Given the description of an element on the screen output the (x, y) to click on. 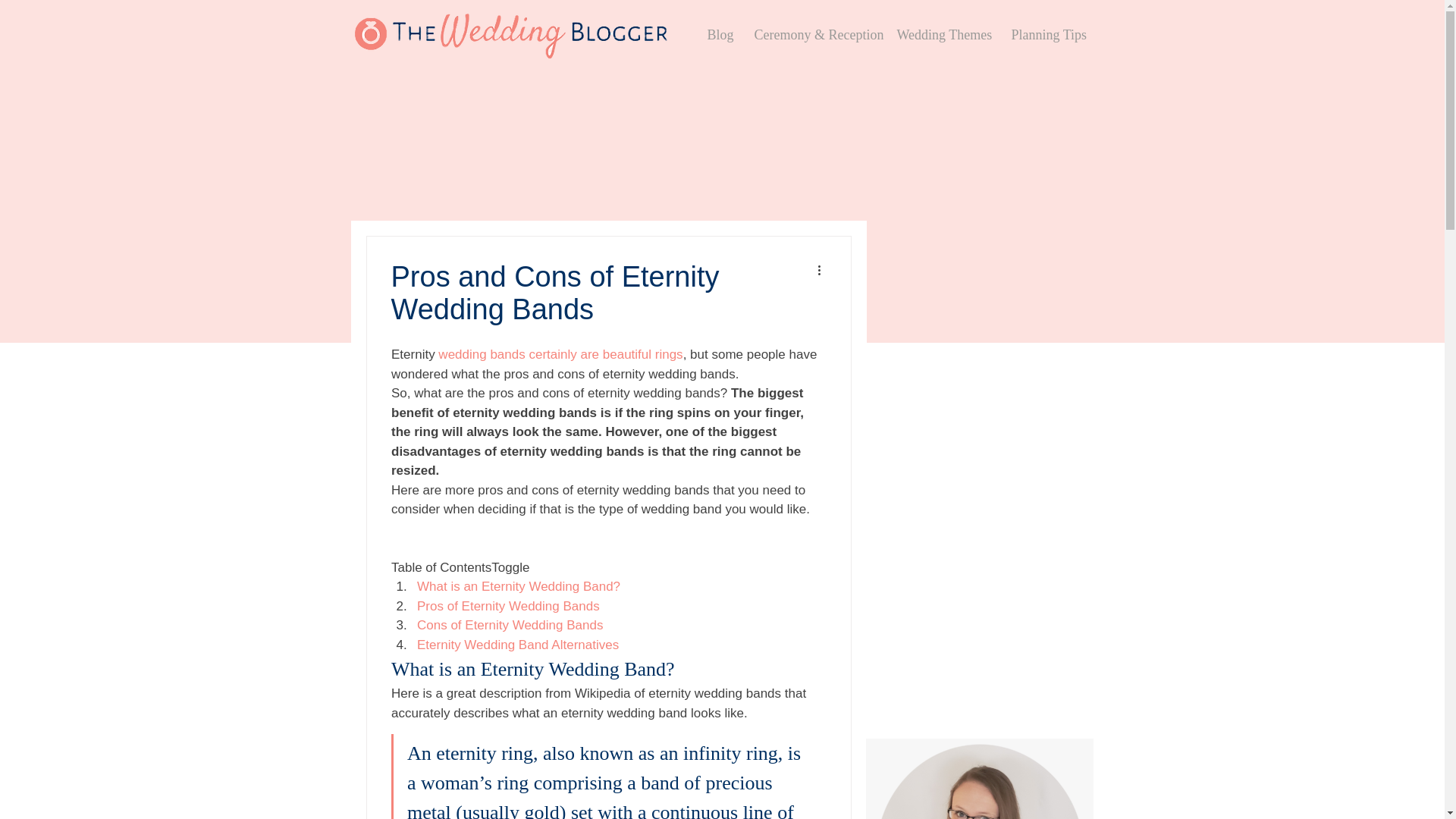
What is an Eternity Wedding Band? (518, 586)
Pros of Eternity Wedding Bands (507, 605)
wedding bands certainly are beautiful rings (560, 354)
Wedding Themes (942, 34)
Cons of Eternity Wedding Bands (509, 625)
Blog (718, 34)
Eternity Wedding Band Alternatives (517, 644)
Planning Tips (1045, 34)
